Given the description of an element on the screen output the (x, y) to click on. 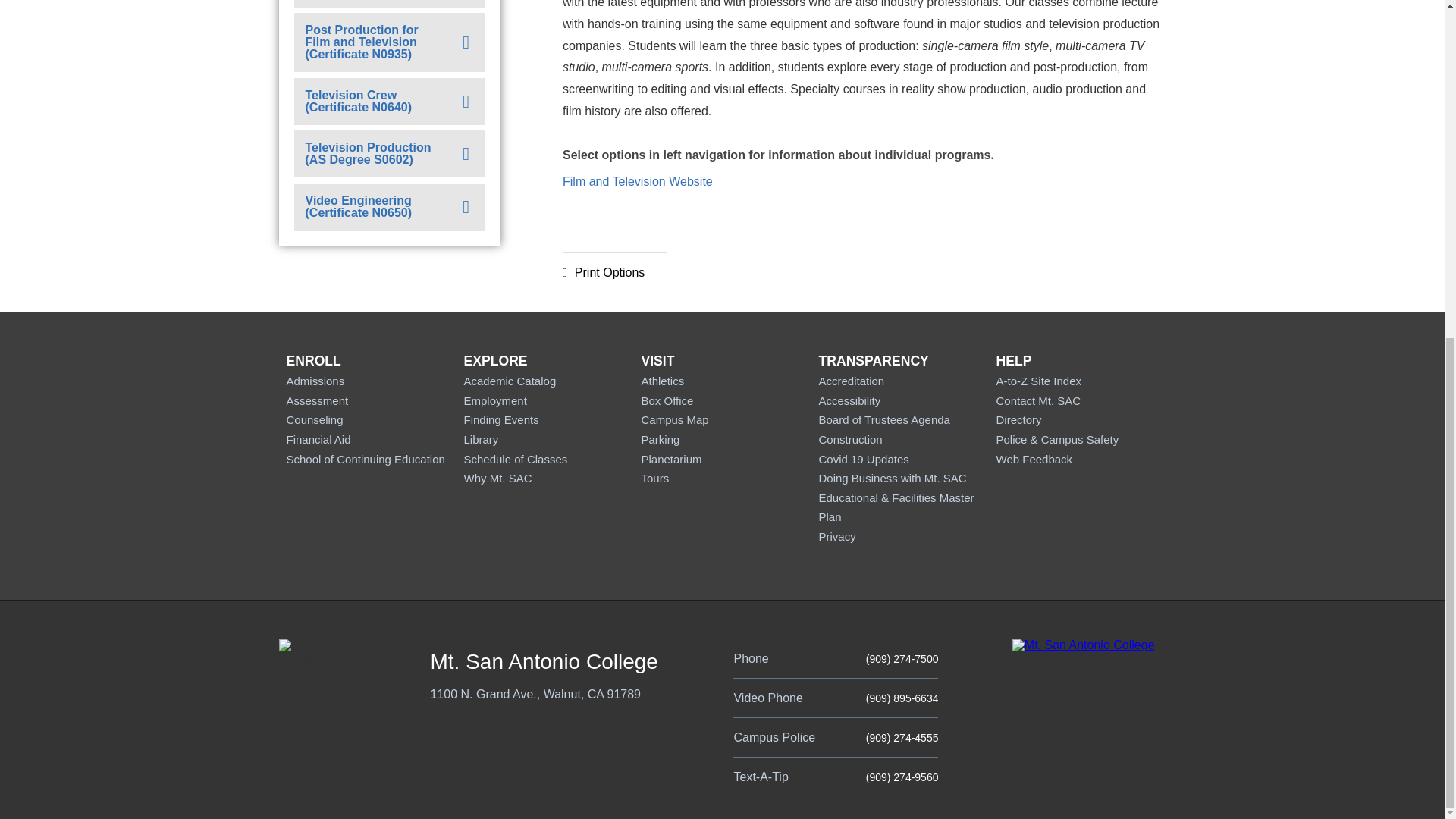
Mt. San Antonio College (1082, 644)
